Given the description of an element on the screen output the (x, y) to click on. 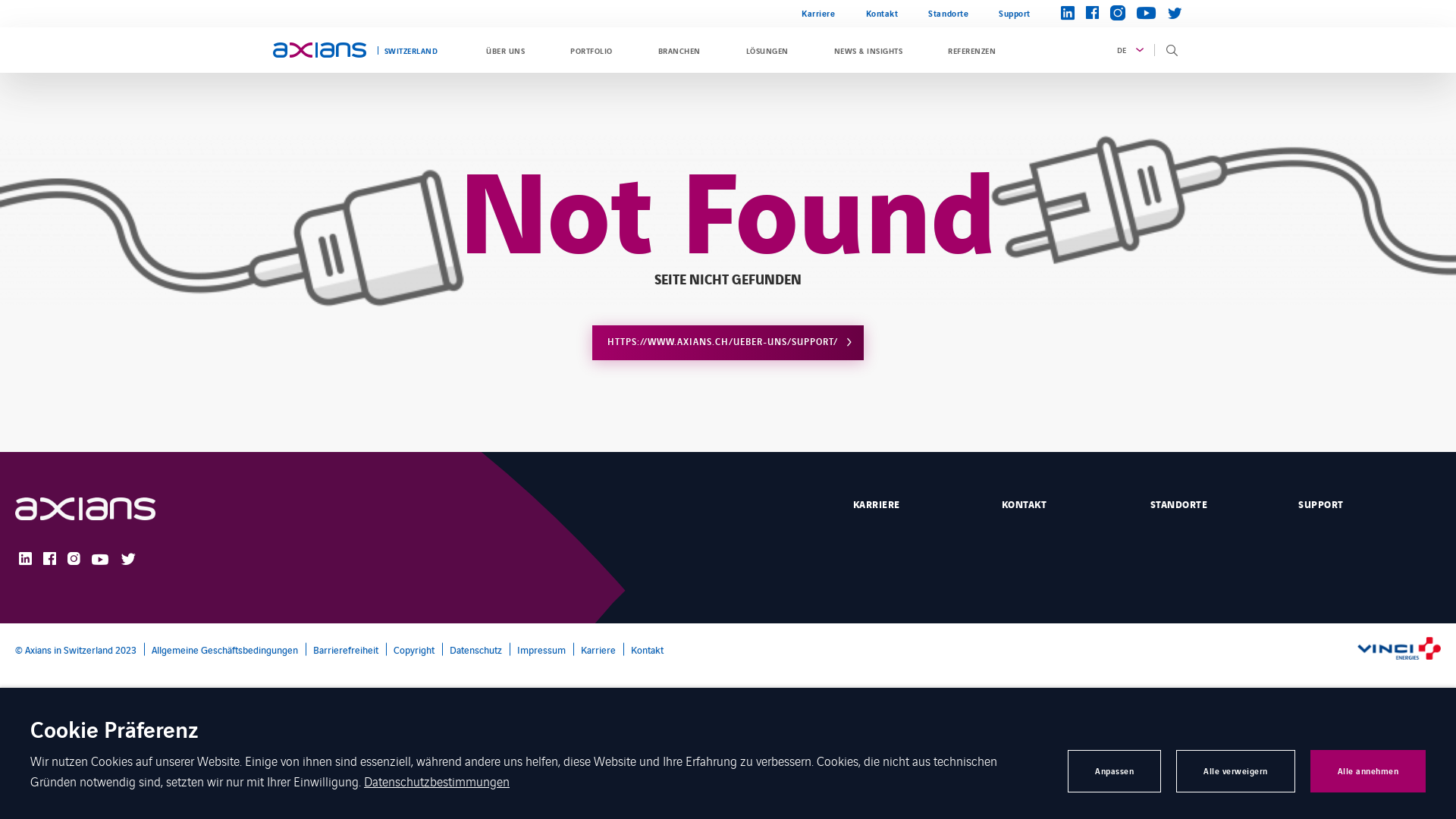
Standorte Element type: text (948, 13)
Datenschutzbestimmungen Element type: text (436, 780)
SUPPORT Element type: text (1369, 503)
Karriere Element type: text (818, 13)
Kontakt Element type: text (881, 13)
PORTFOLIO Element type: text (590, 49)
STANDORTE Element type: text (1213, 503)
Impressum Element type: text (537, 649)
Datenschutz Element type: text (472, 649)
HTTPS://WWW.AXIANS.CH/UEBER-UNS/SUPPORT/ Element type: text (727, 342)
Search Element type: text (1165, 134)
KARRIERE Element type: text (916, 503)
REFERENZEN Element type: text (971, 49)
Support Element type: text (1006, 13)
Kontakt Element type: text (643, 649)
BRANCHEN Element type: text (679, 49)
Karriere Element type: text (594, 649)
KONTAKT Element type: text (1064, 503)
DE Element type: text (1127, 49)
Alle annehmen Element type: text (1368, 770)
Copyright Element type: text (409, 649)
Barrierefreiheit Element type: text (341, 649)
Alle verweigern Element type: text (1235, 770)
Anpassen Element type: text (1114, 770)
NEWS & INSIGHTS Element type: text (868, 49)
